Given the description of an element on the screen output the (x, y) to click on. 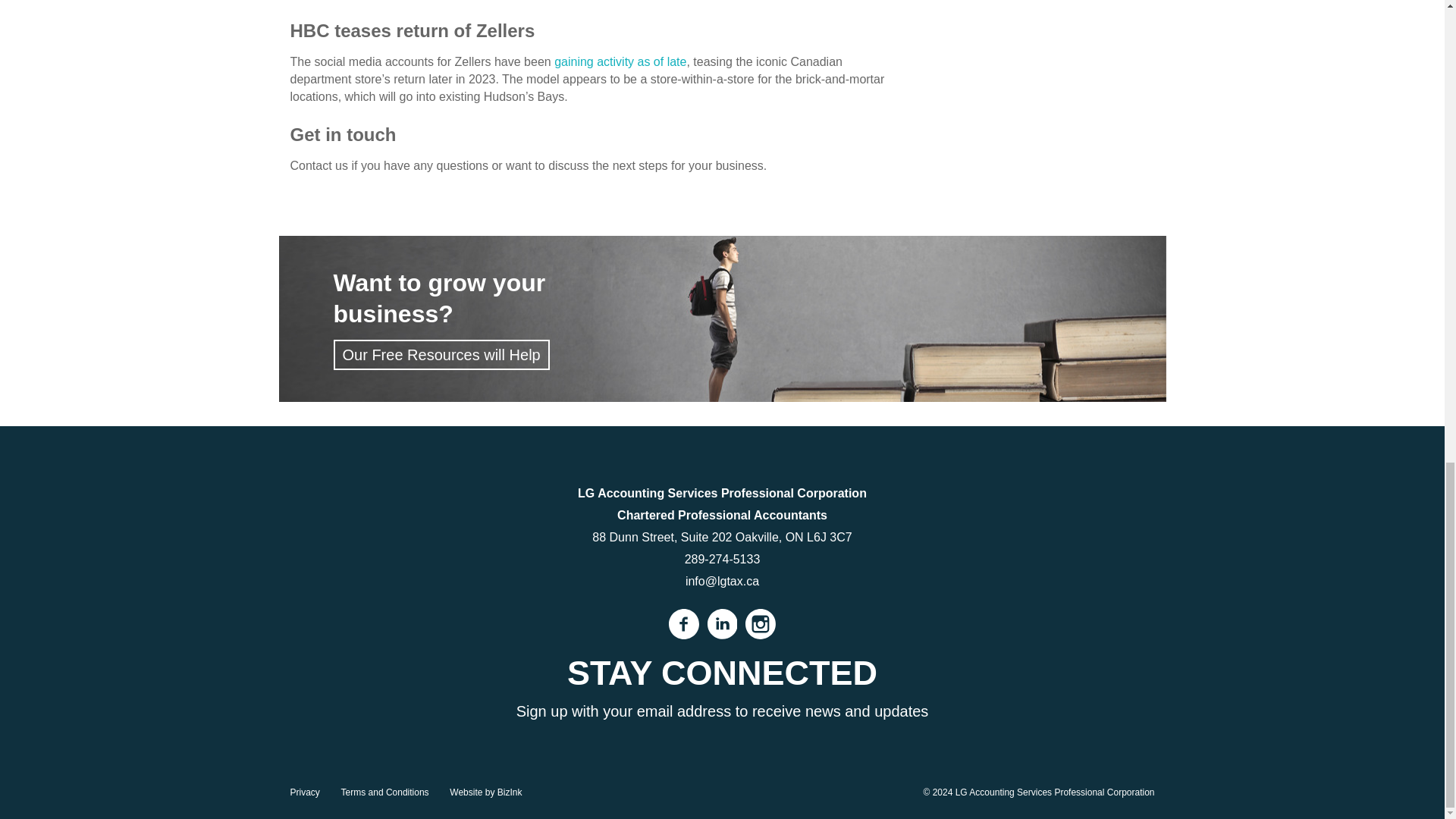
gaining activity as of late (619, 61)
